Given the description of an element on the screen output the (x, y) to click on. 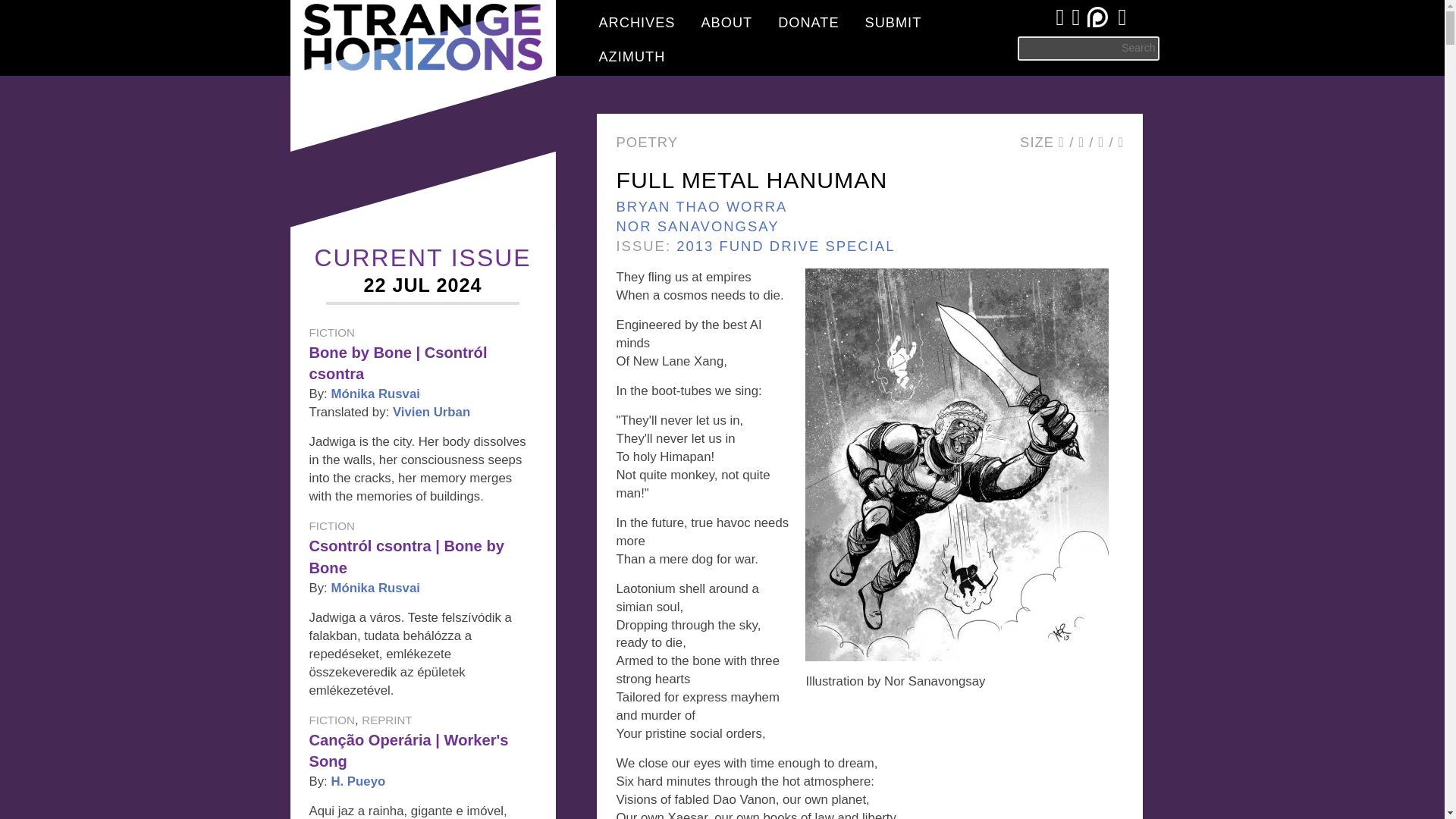
ARCHIVES (636, 20)
